Given the description of an element on the screen output the (x, y) to click on. 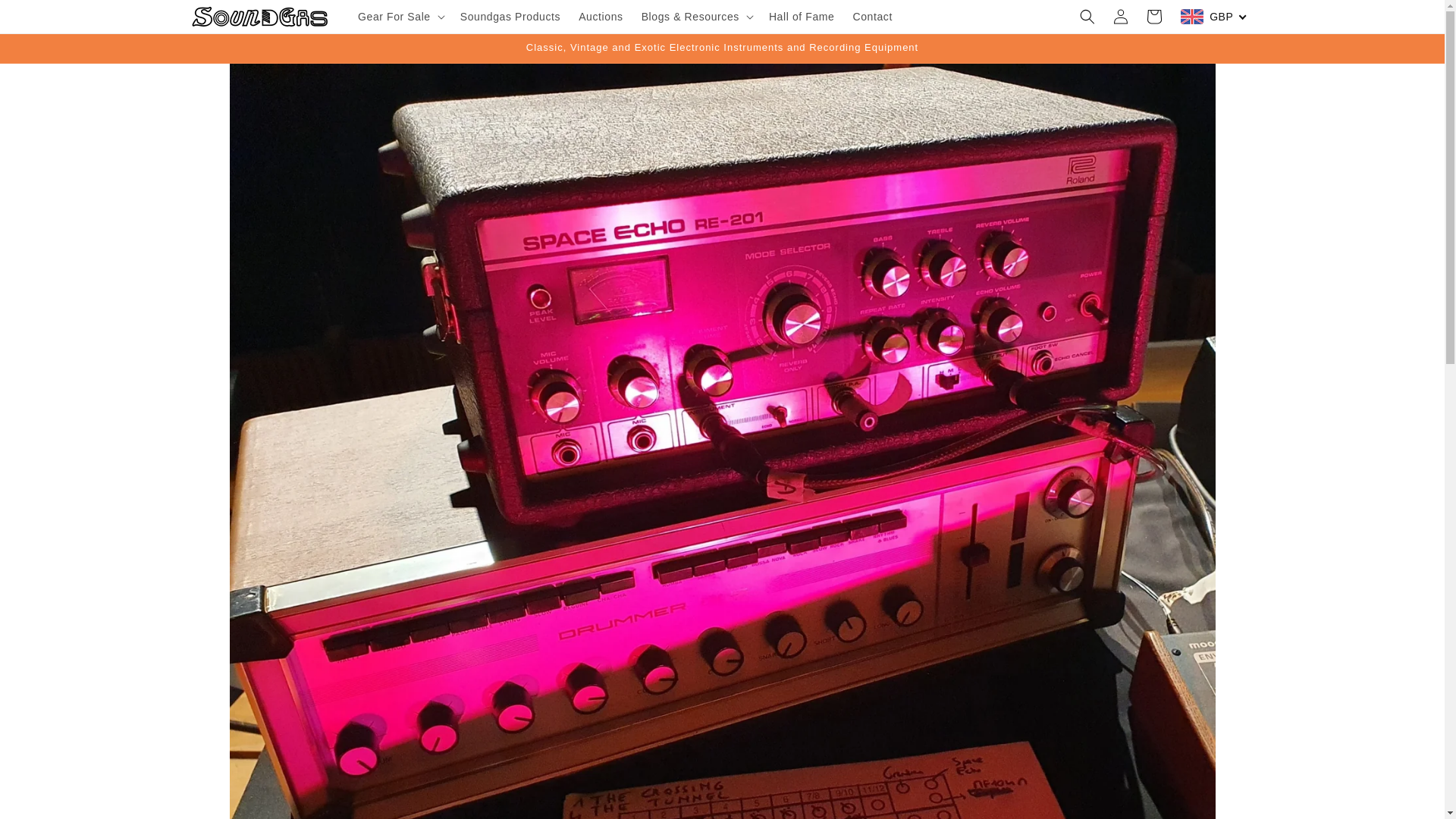
Skip to content (45, 17)
